Given the description of an element on the screen output the (x, y) to click on. 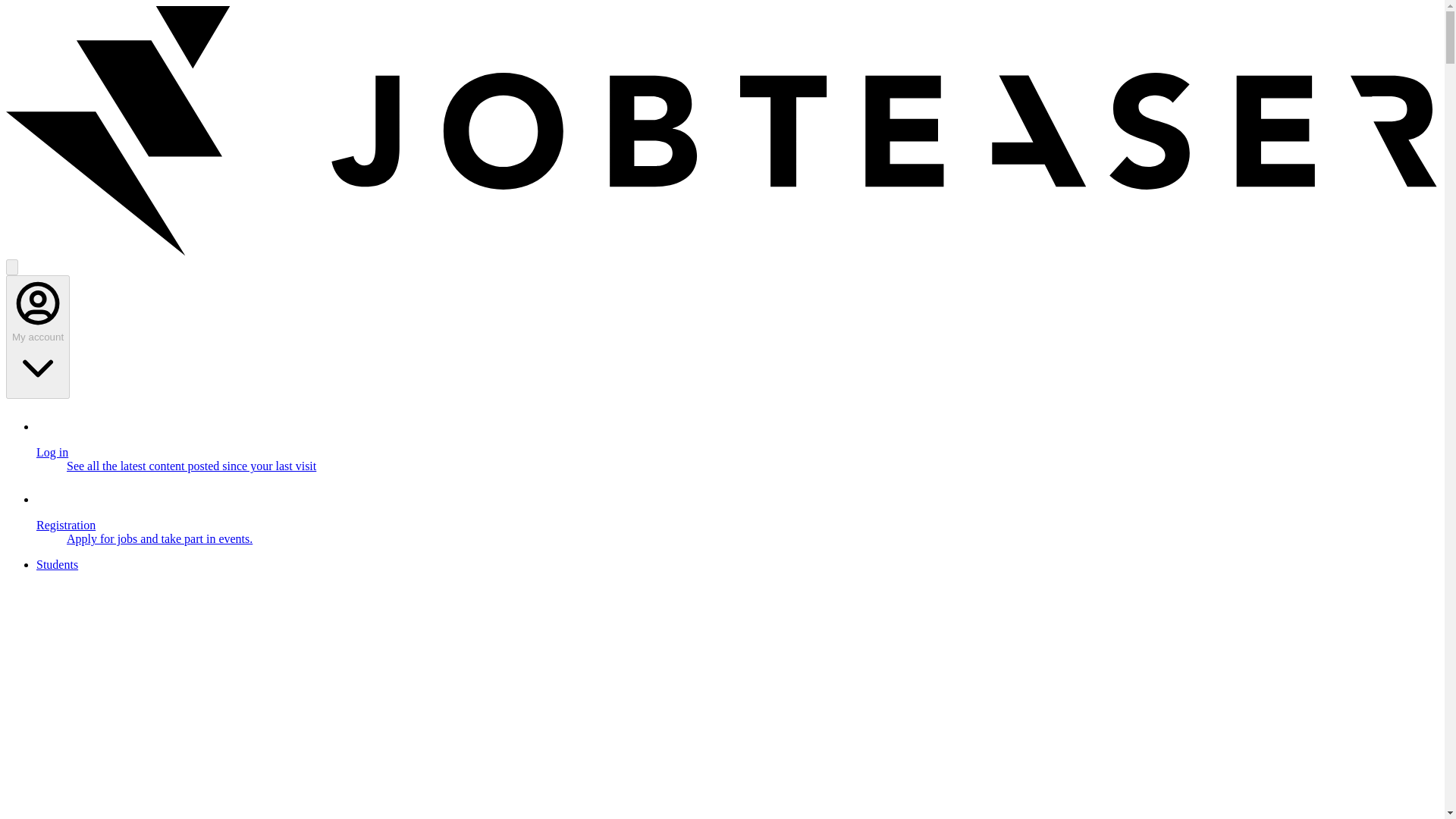
My account (37, 336)
